Given the description of an element on the screen output the (x, y) to click on. 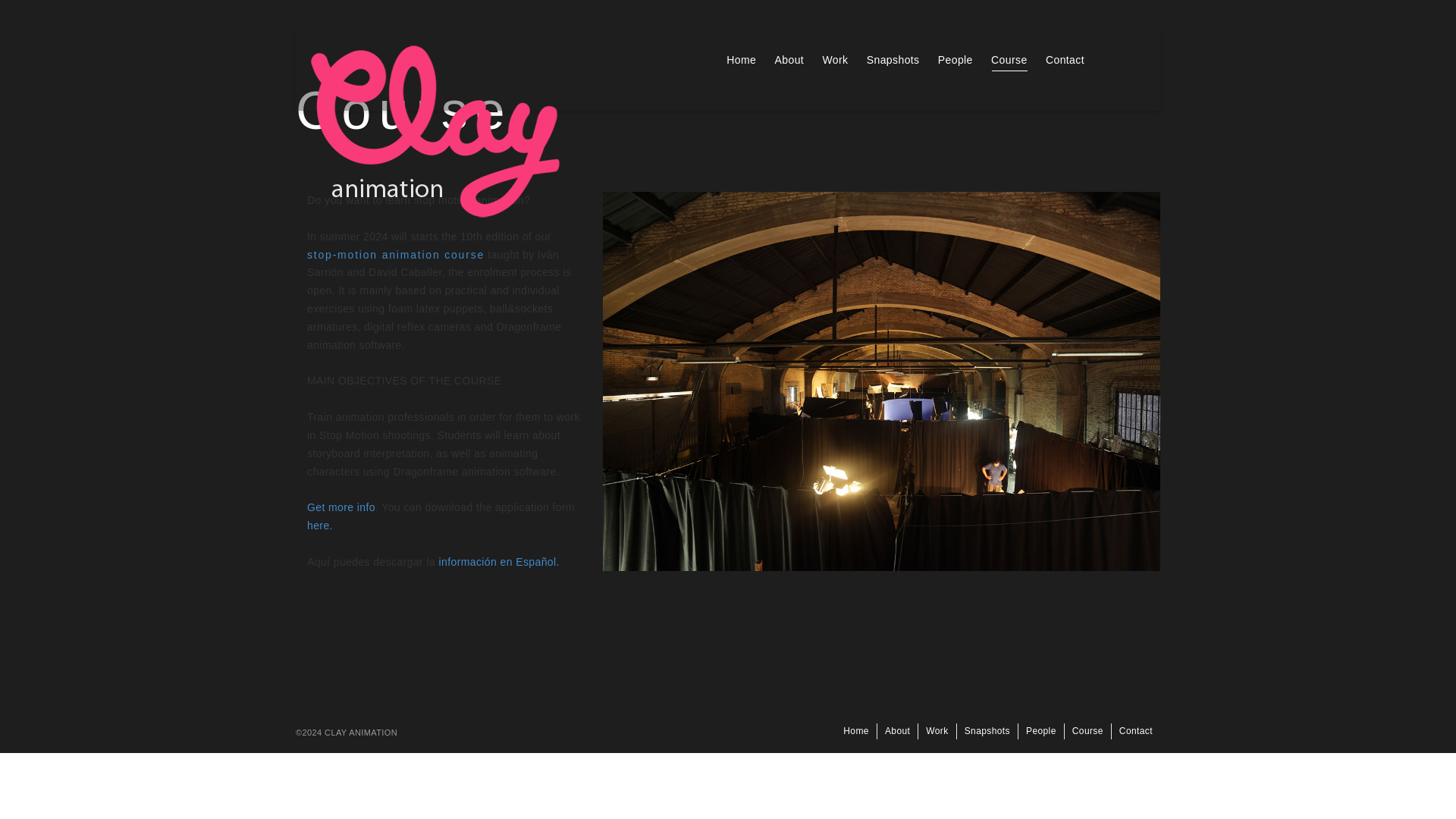
Snapshots (986, 731)
Get more info (341, 507)
Home (856, 731)
Contact (1136, 731)
People (1041, 731)
Home (740, 60)
Course (1009, 60)
People (954, 60)
Contact (1064, 60)
Course (1087, 731)
